Given the description of an element on the screen output the (x, y) to click on. 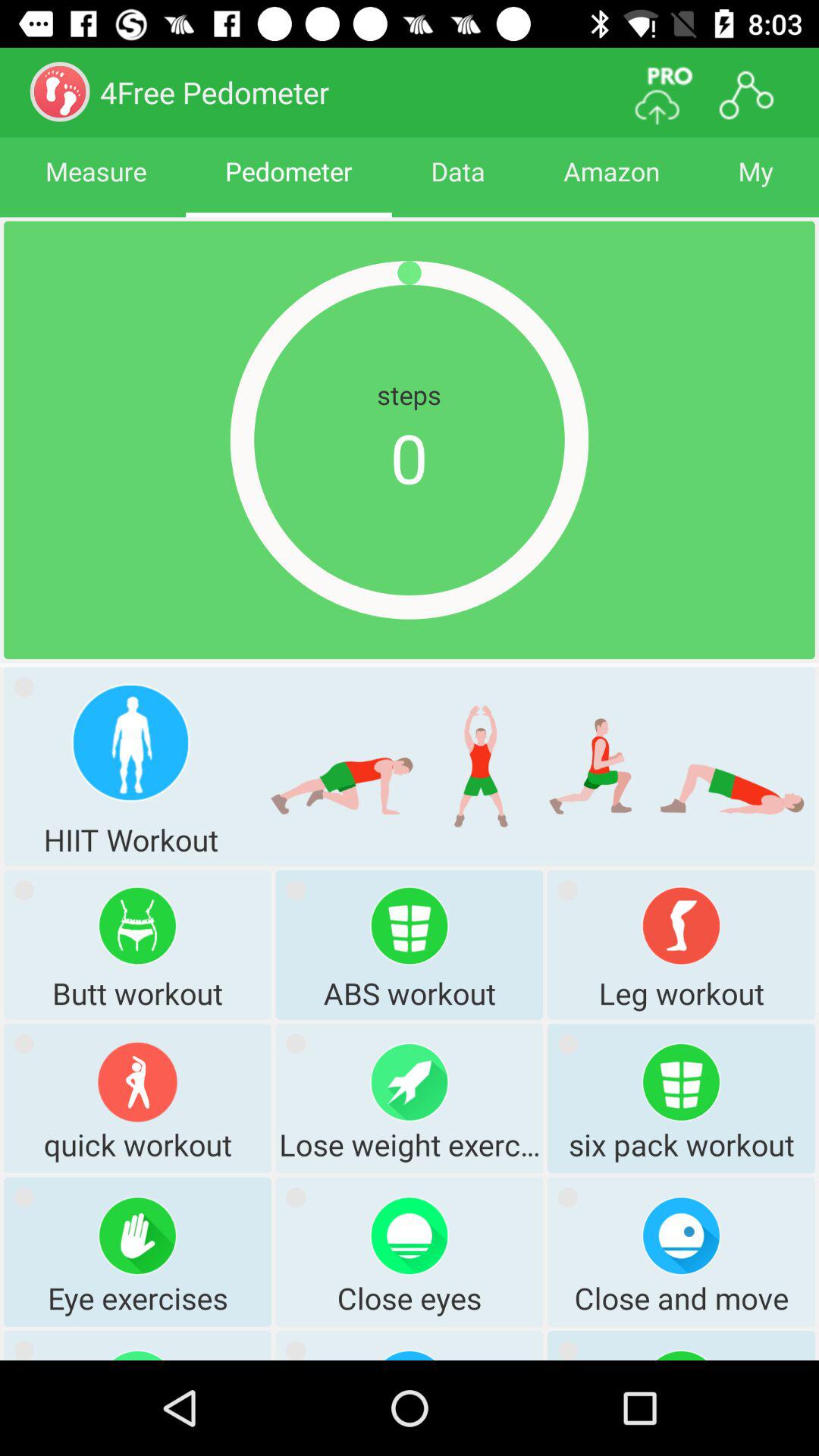
turn off item to the left of pedometer app (95, 185)
